Given the description of an element on the screen output the (x, y) to click on. 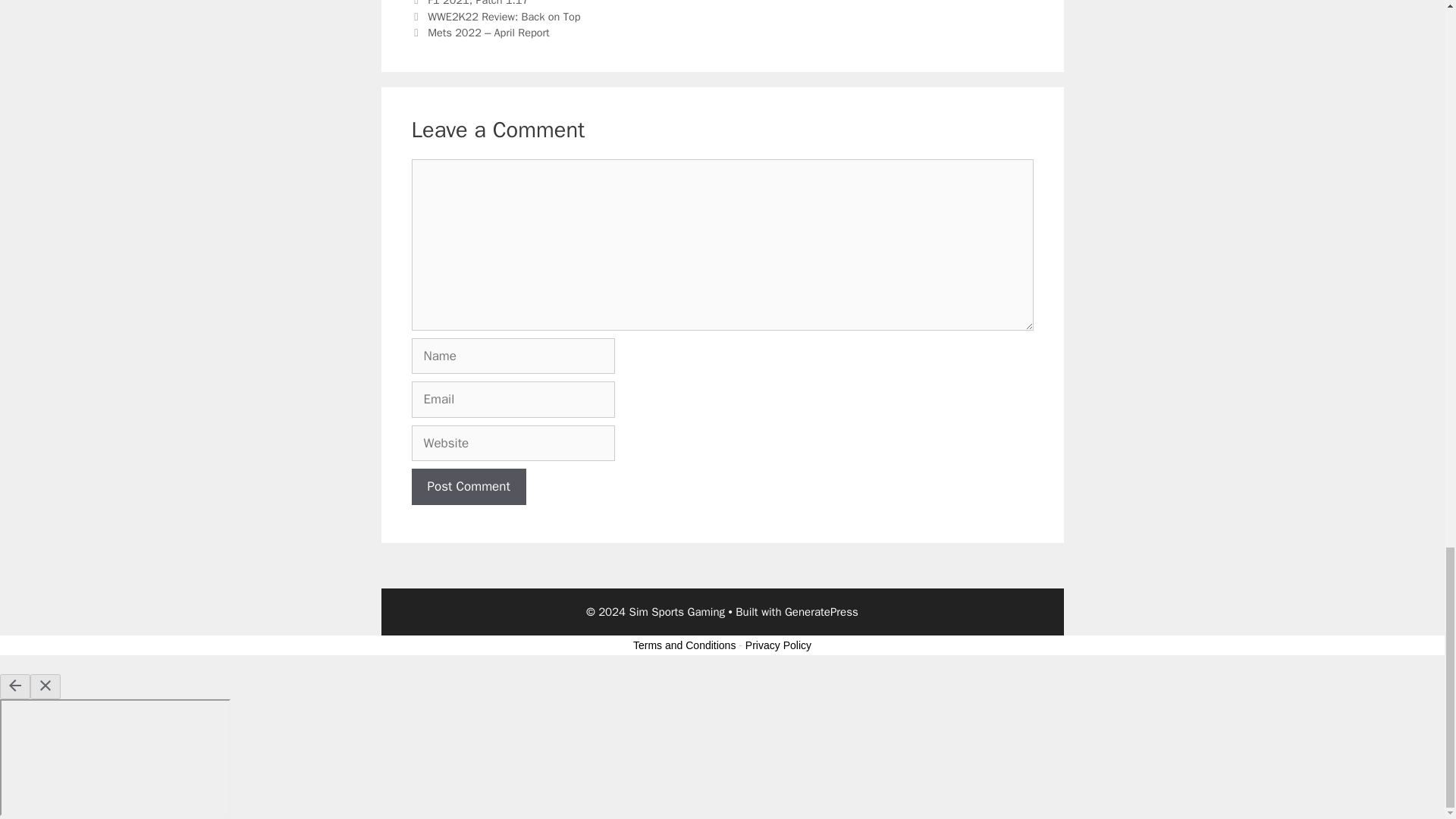
Post Comment (467, 486)
Terms and Conditions (684, 645)
GeneratePress (821, 612)
Patch 1.17 (502, 3)
Post Comment (467, 486)
Privacy Policy (777, 645)
WWE2K22 Review: Back on Top (503, 16)
F1 2021 (448, 3)
